Given the description of an element on the screen output the (x, y) to click on. 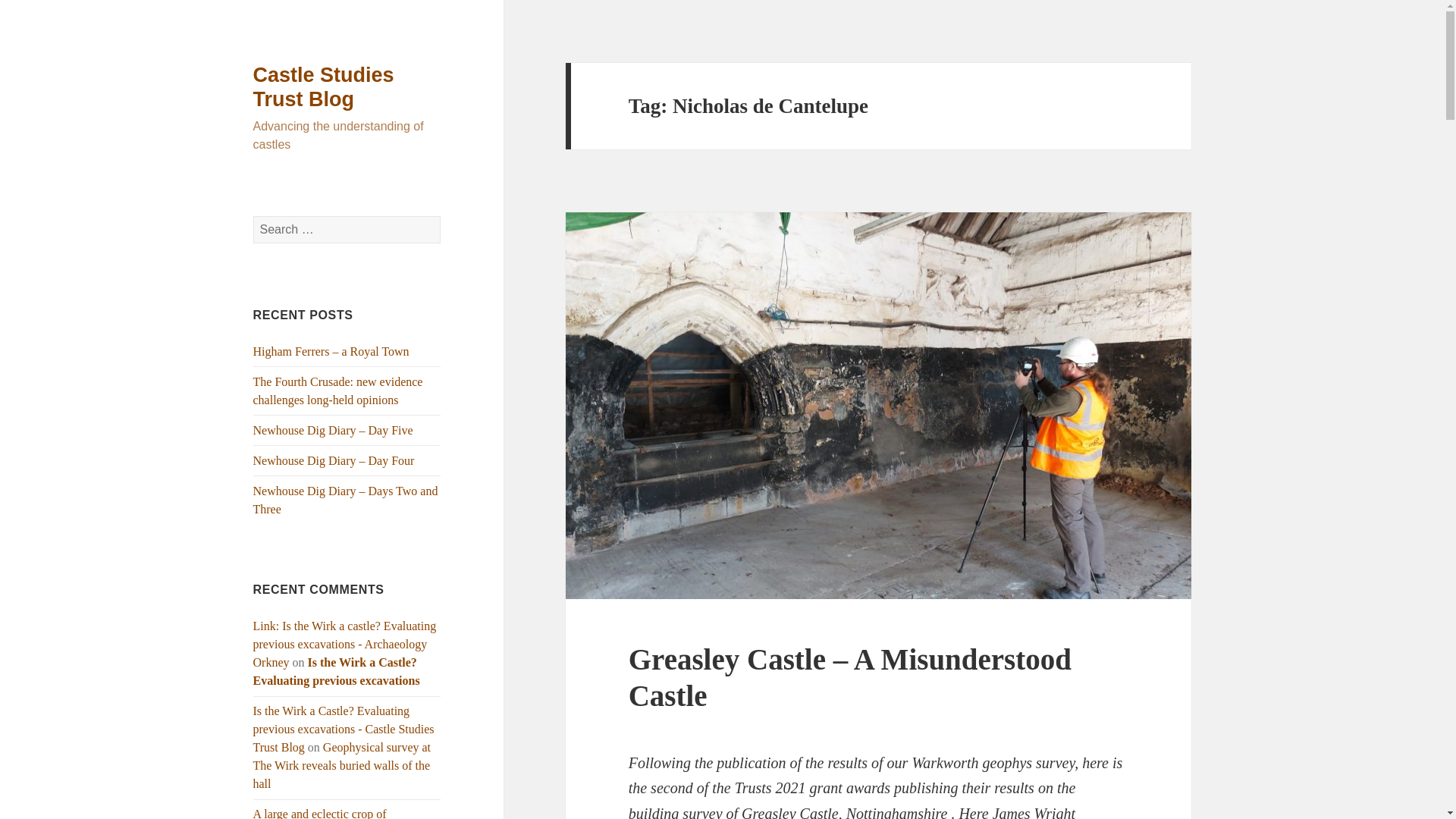
Castle Studies Trust Blog (323, 86)
Is the Wirk a Castle? Evaluating previous excavations (336, 671)
